Given the description of an element on the screen output the (x, y) to click on. 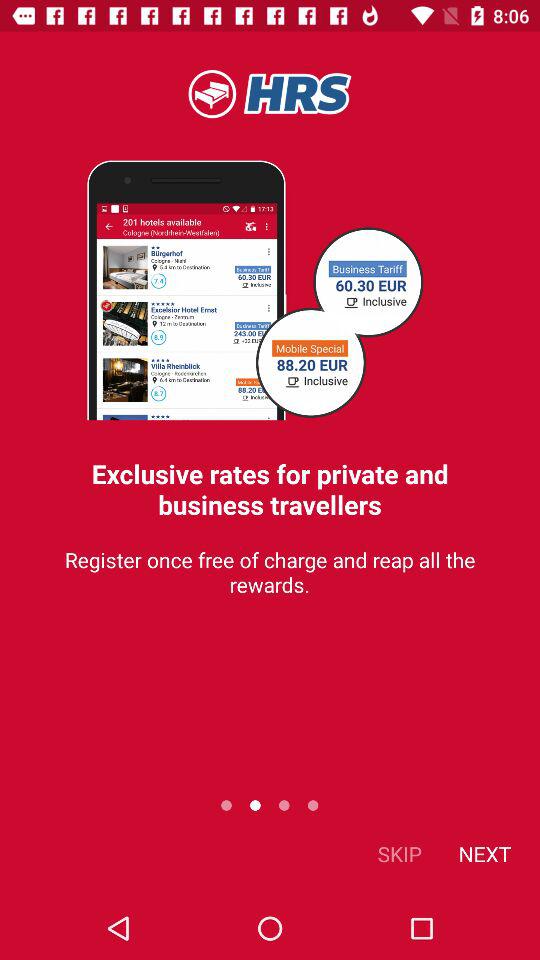
click item below register once free item (484, 853)
